Given the description of an element on the screen output the (x, y) to click on. 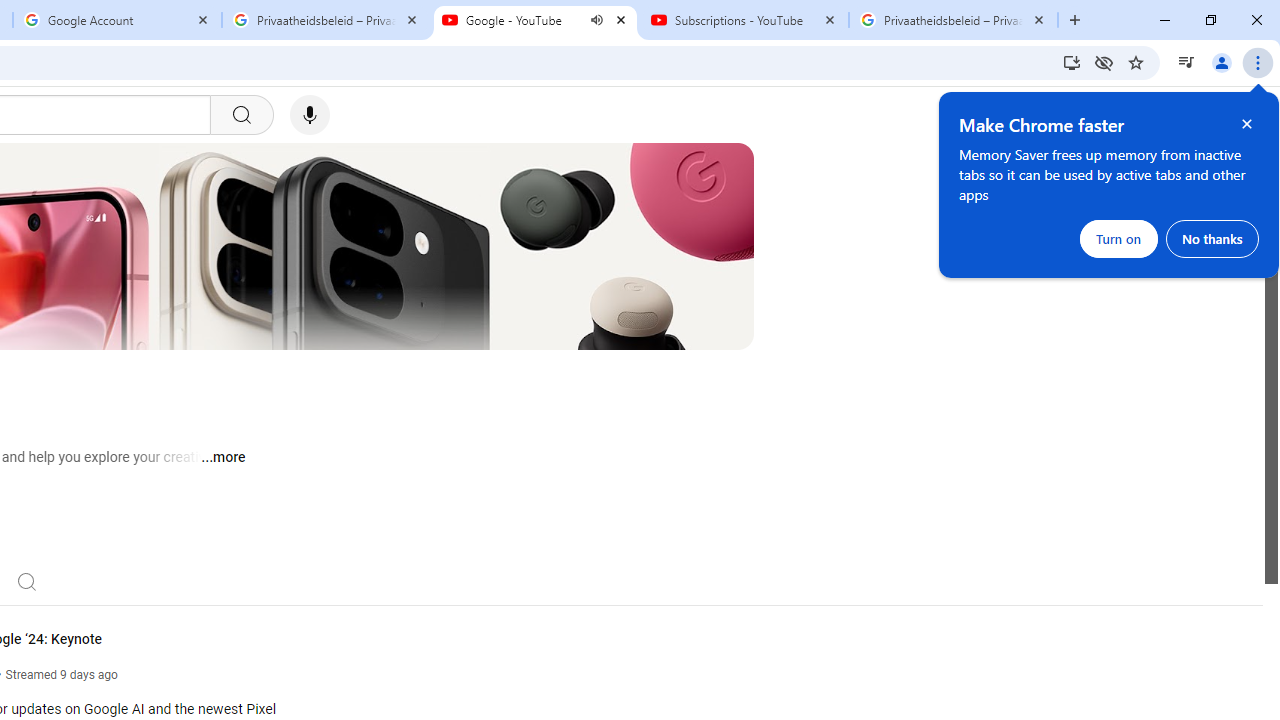
Install YouTube (1071, 62)
Turn on (1119, 238)
Search with your voice (309, 115)
No thanks (1212, 238)
Subscriptions - YouTube (744, 20)
